Given the description of an element on the screen output the (x, y) to click on. 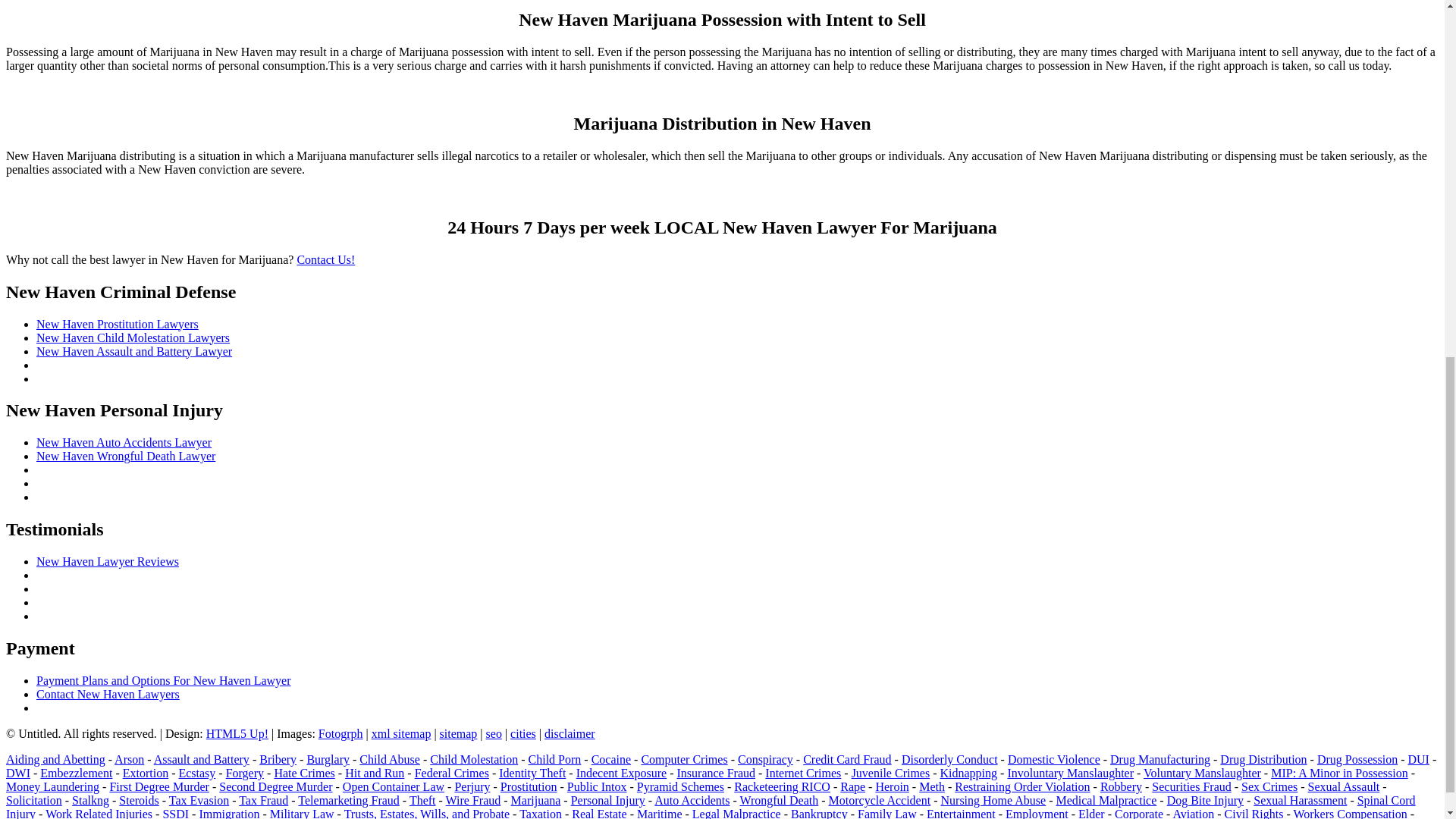
Payment Plans and Options For New Haven Lawyer (163, 680)
Fotogrph (340, 733)
New Haven Lawyer Reviews (107, 561)
Disorderly Conduct (949, 758)
Conspiracy (765, 758)
Child Porn (554, 758)
New Haven Assault and Battery Lawyer (133, 350)
Drug Manufacturing (1159, 758)
sitemap (458, 733)
xml sitemap (400, 733)
Cocaine (610, 758)
Burglary (327, 758)
Aiding and Abetting (54, 758)
seo (494, 733)
New Haven Prostitution Lawyers (117, 323)
